Given the description of an element on the screen output the (x, y) to click on. 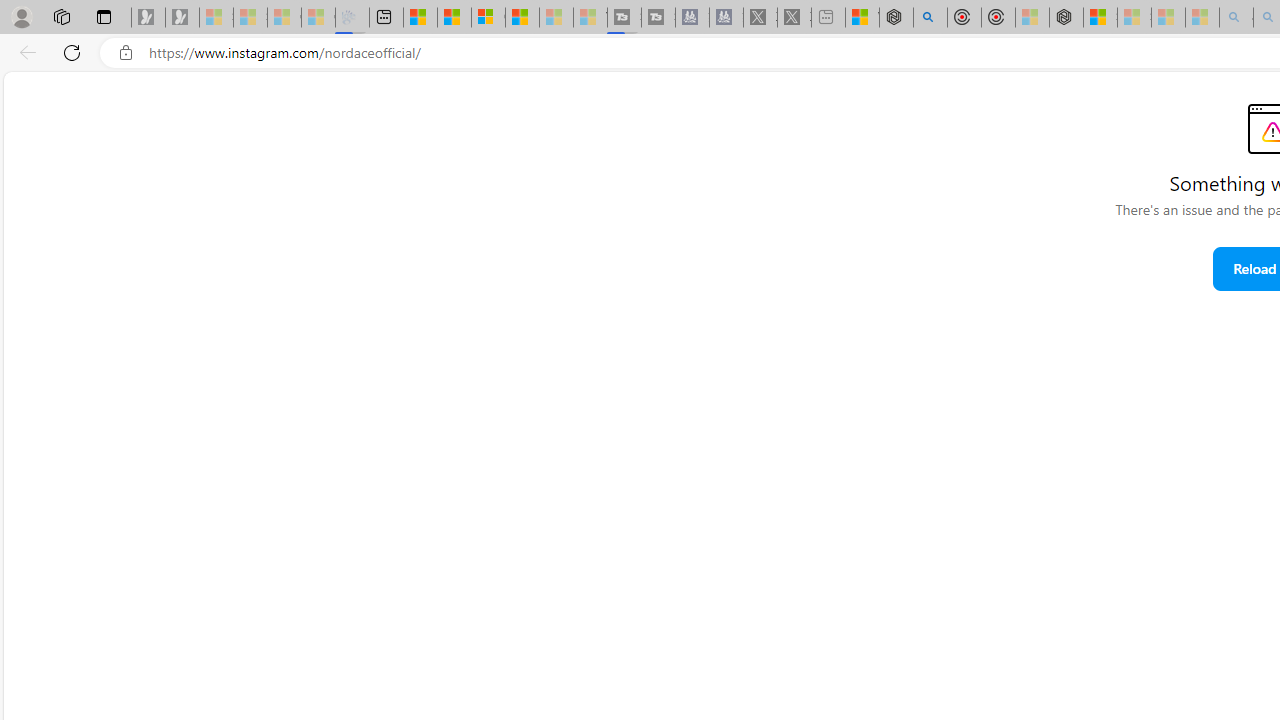
Overview (488, 17)
amazon - Search - Sleeping (1236, 17)
Microsoft Start - Sleeping (556, 17)
Newsletter Sign Up - Sleeping (182, 17)
